Given the description of an element on the screen output the (x, y) to click on. 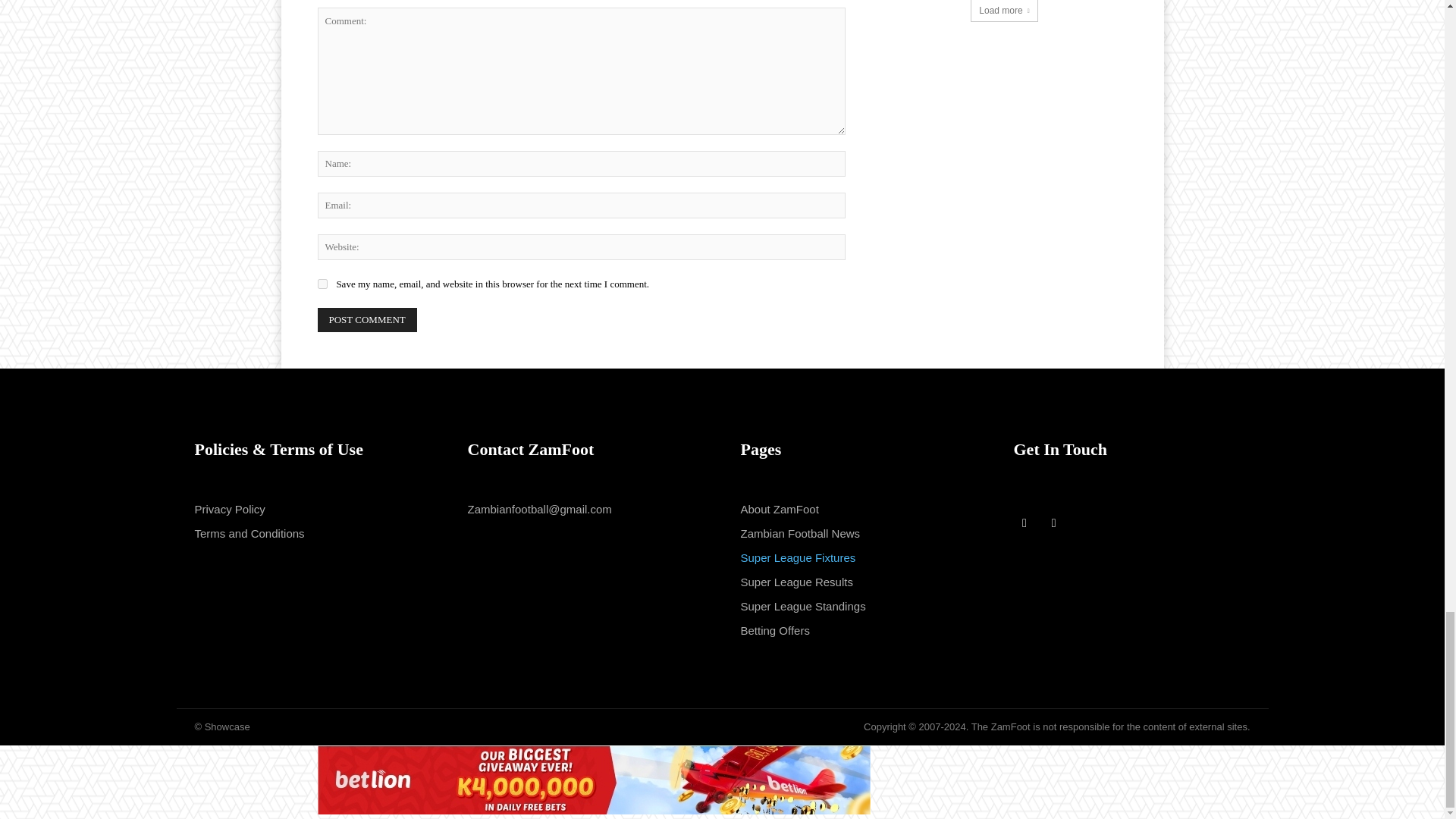
Post Comment (366, 319)
yes (321, 284)
